Given the description of an element on the screen output the (x, y) to click on. 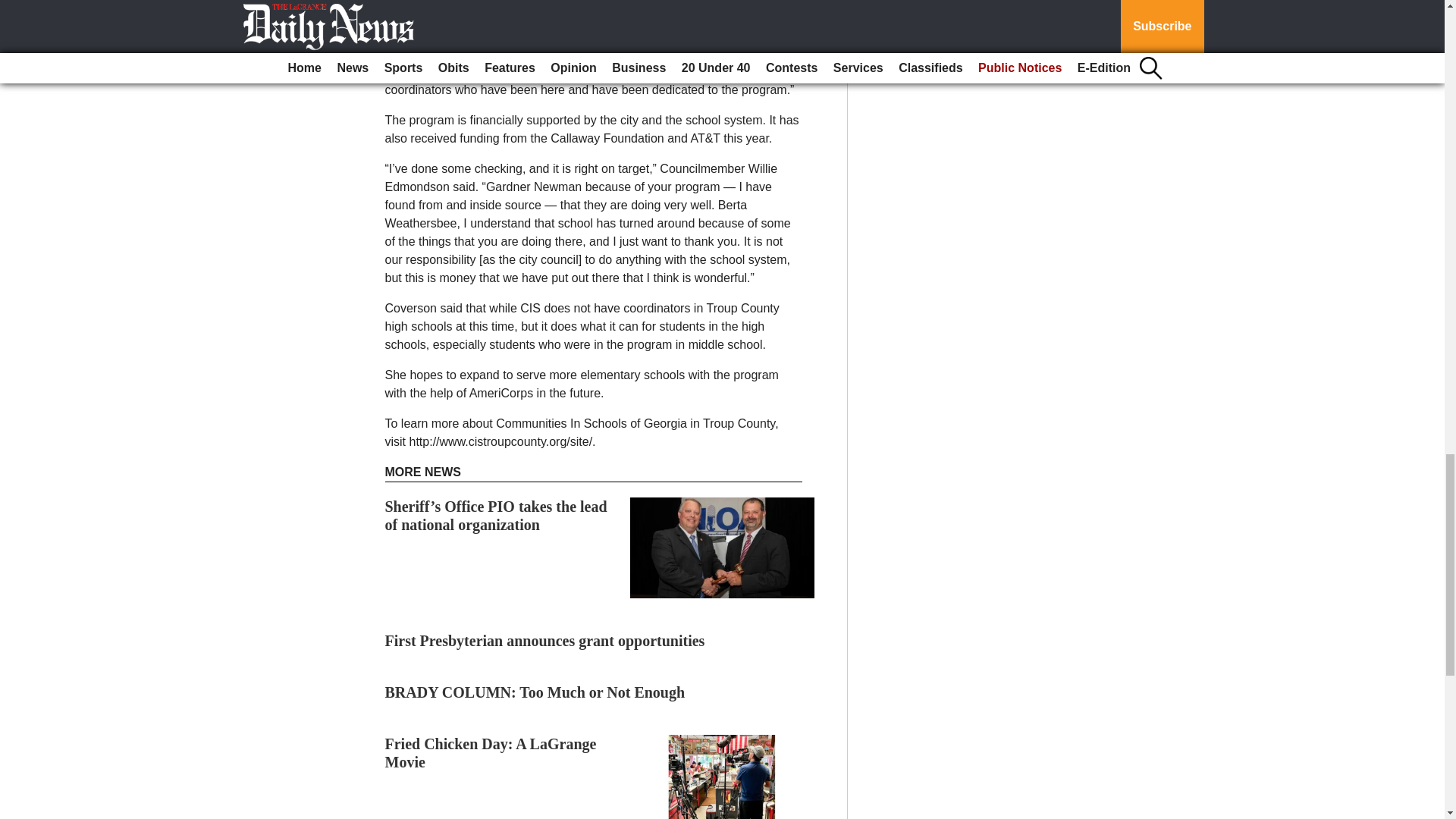
Fried Chicken Day: A LaGrange Movie (490, 752)
First Presbyterian announces grant opportunities (544, 640)
BRADY COLUMN: Too Much or Not Enough (535, 692)
BRADY COLUMN: Too Much or Not Enough (535, 692)
First Presbyterian announces grant opportunities (544, 640)
Fried Chicken Day: A LaGrange Movie (490, 752)
